Given the description of an element on the screen output the (x, y) to click on. 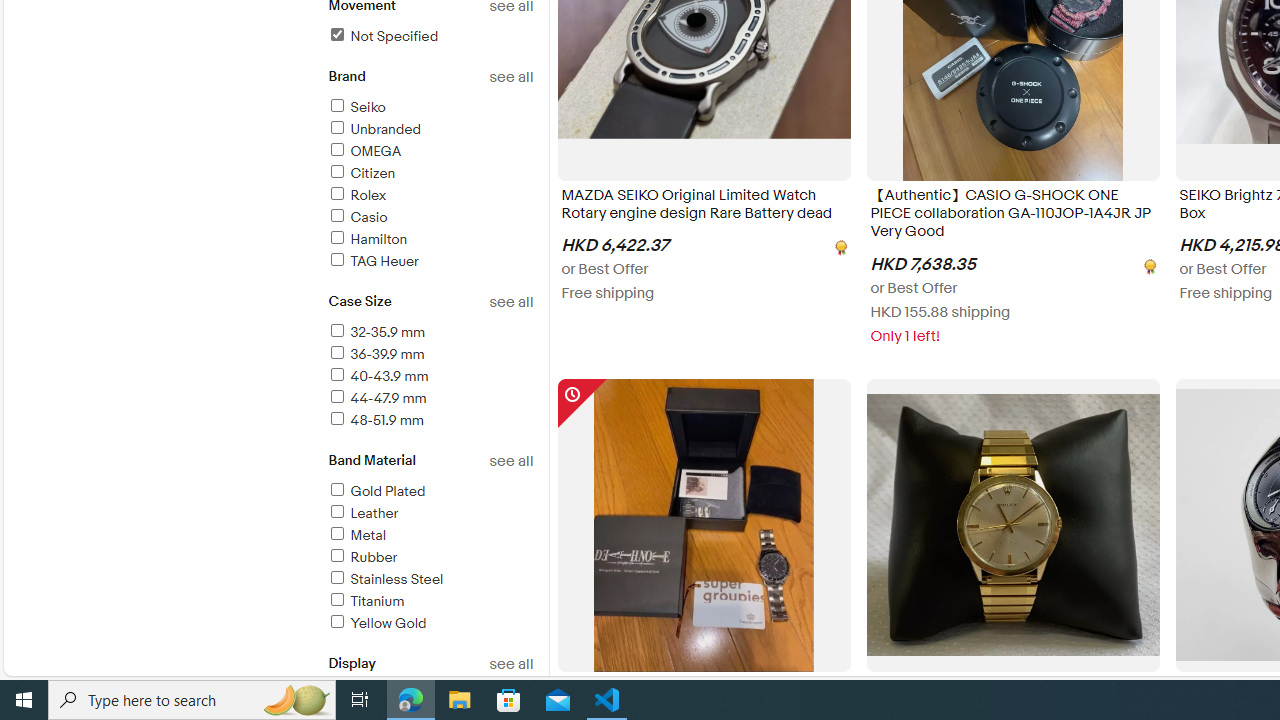
36-39.9 mm (375, 354)
48-51.9 mm (430, 421)
Gold Plated (376, 491)
Leather (430, 514)
Yellow Gold (376, 623)
Seiko (356, 107)
44-47.9 mm (376, 398)
Seiko (430, 108)
Metal (356, 535)
See all case size refinements (510, 302)
Leather (362, 513)
Stainless Steel (385, 579)
Hamilton (430, 240)
Unbranded (374, 129)
